Given the description of an element on the screen output the (x, y) to click on. 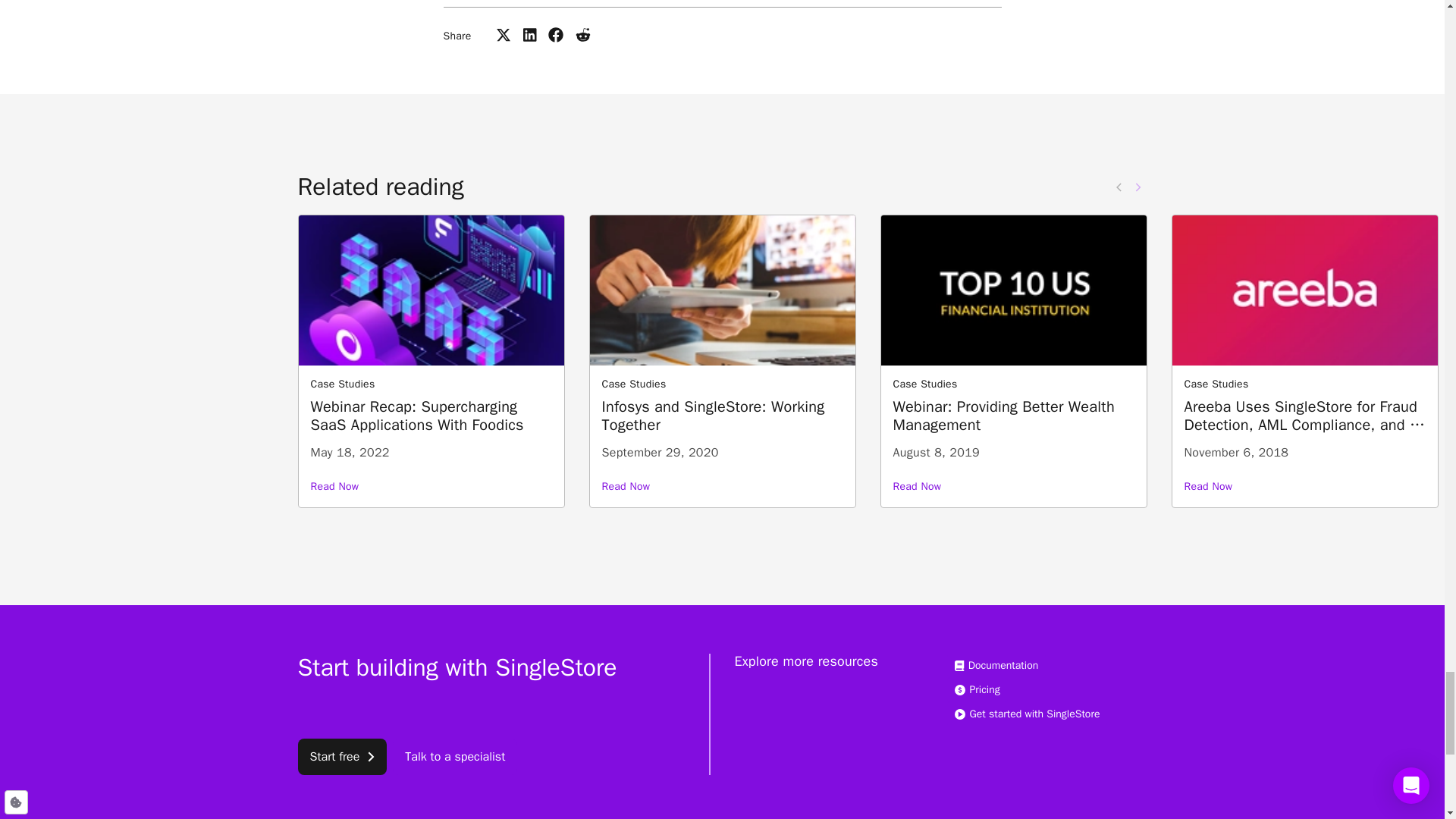
Circle Play Icon (958, 714)
Reddit Alien Icon (583, 34)
X Twitter Icon (503, 34)
Facebook Icon (555, 34)
Circle Dollar Icon (958, 689)
